Given the description of an element on the screen output the (x, y) to click on. 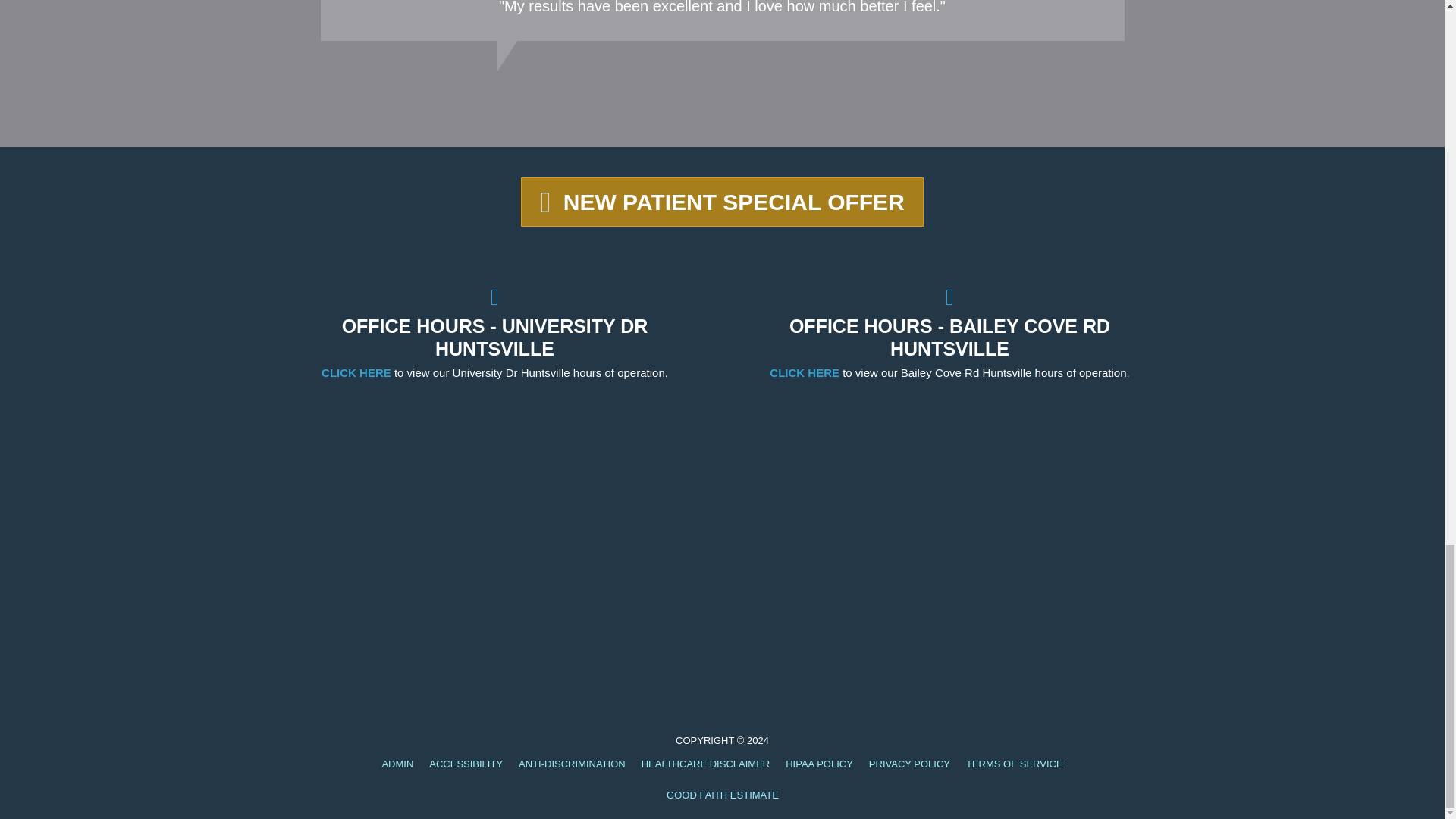
Click Here (722, 201)
